Given the description of an element on the screen output the (x, y) to click on. 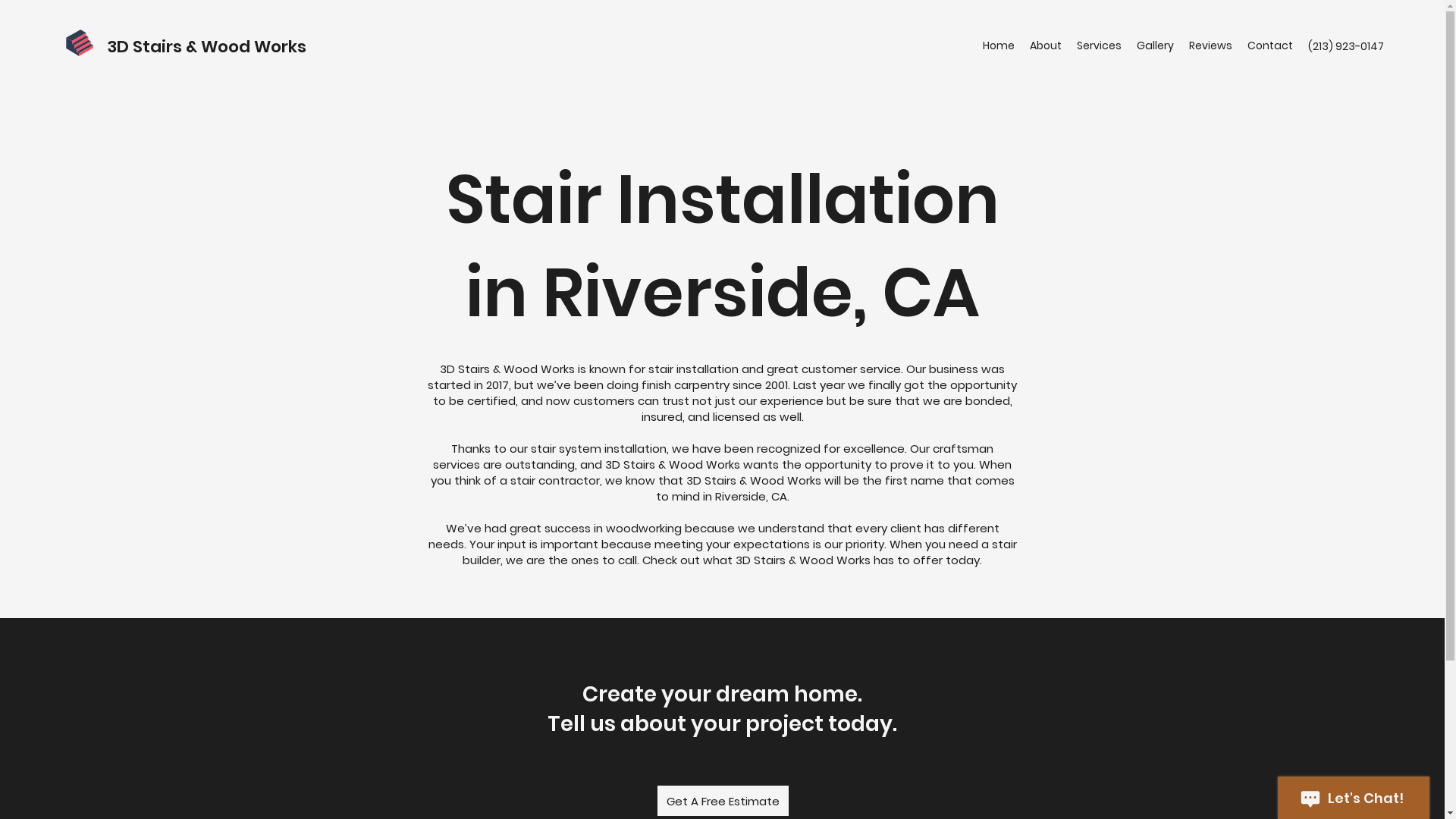
3D Stairs & Wood Works Element type: text (206, 46)
Reviews Element type: text (1210, 45)
Get A Free Estimate Element type: text (721, 800)
Gallery Element type: text (1155, 45)
Contact Element type: text (1269, 45)
About Element type: text (1045, 45)
(213) 923-0147 Element type: text (1345, 45)
Home Element type: text (998, 45)
